Given the description of an element on the screen output the (x, y) to click on. 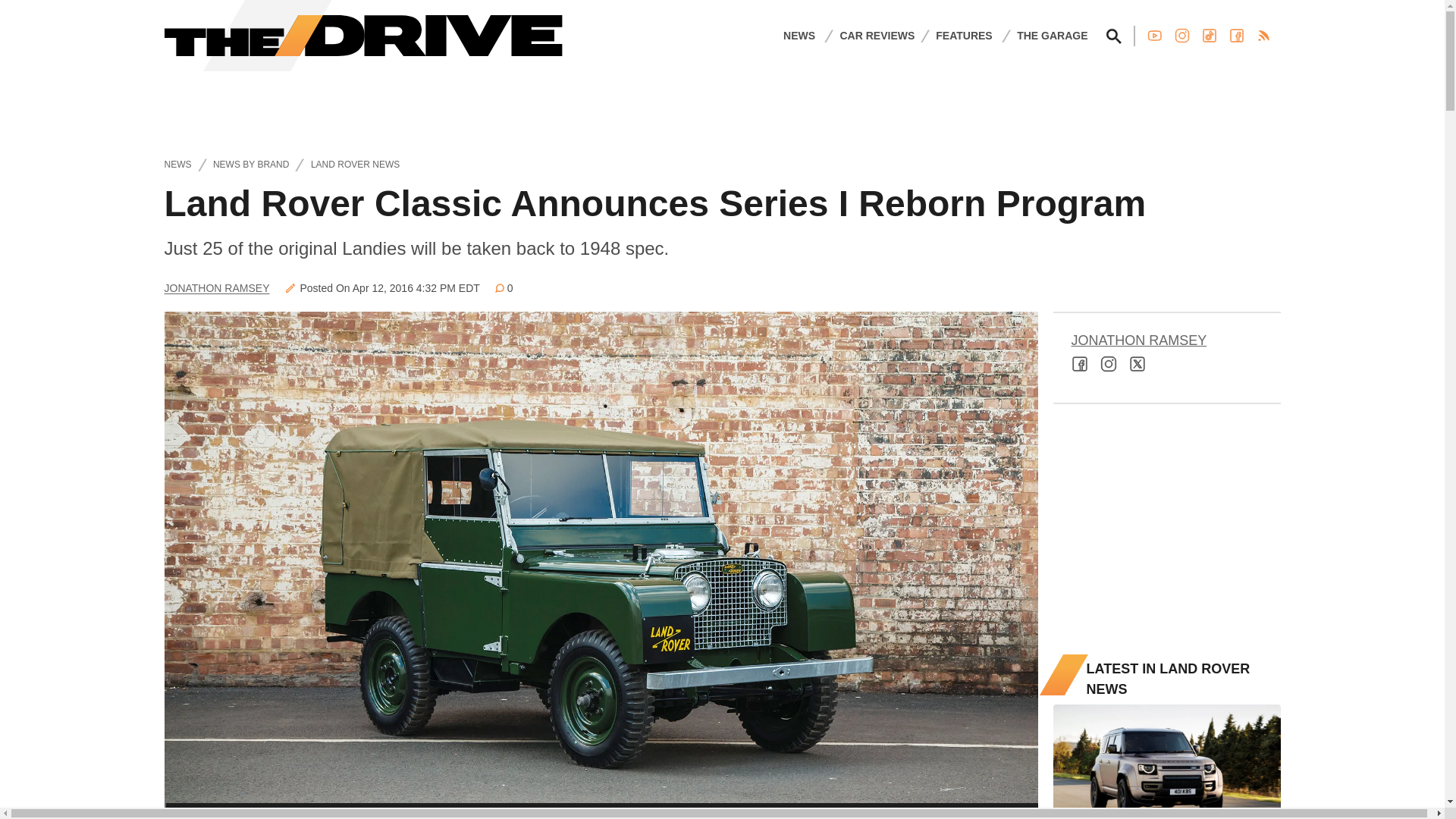
3rd party ad content (1165, 529)
NEWS (799, 34)
3rd party ad content (721, 105)
